Given the description of an element on the screen output the (x, y) to click on. 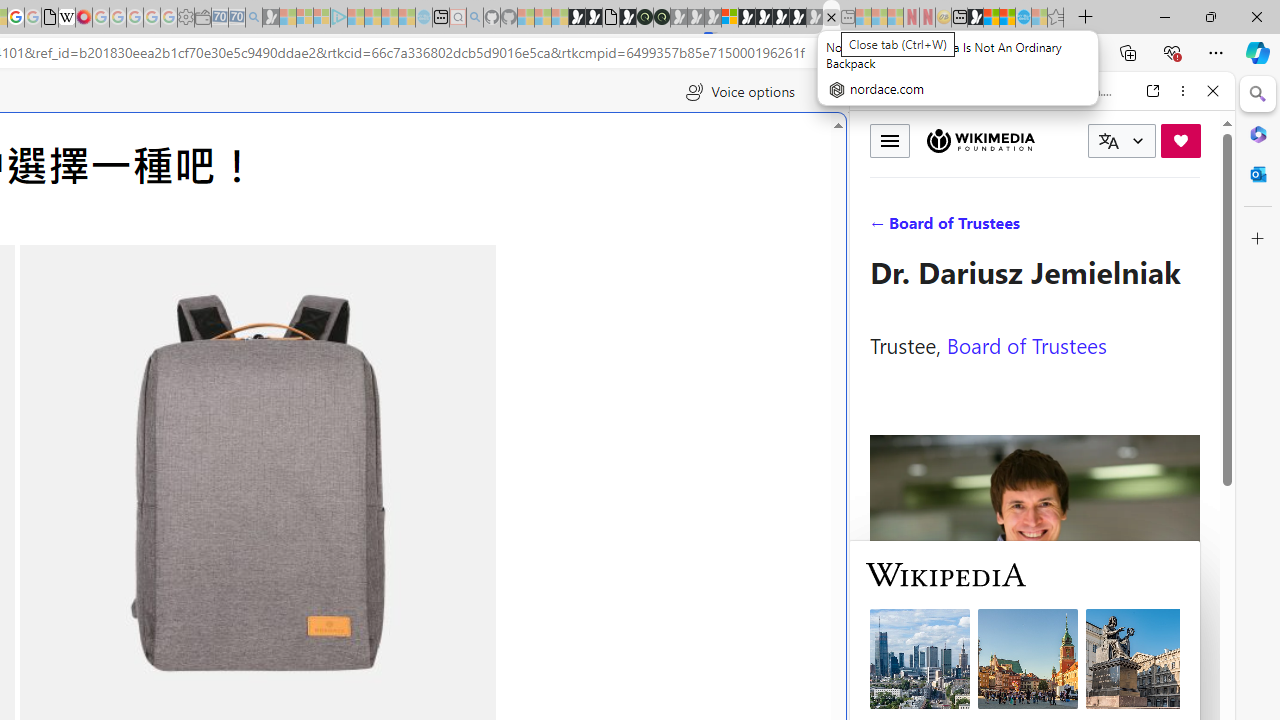
Donate now (1180, 140)
MediaWiki (83, 17)
